Given the description of an element on the screen output the (x, y) to click on. 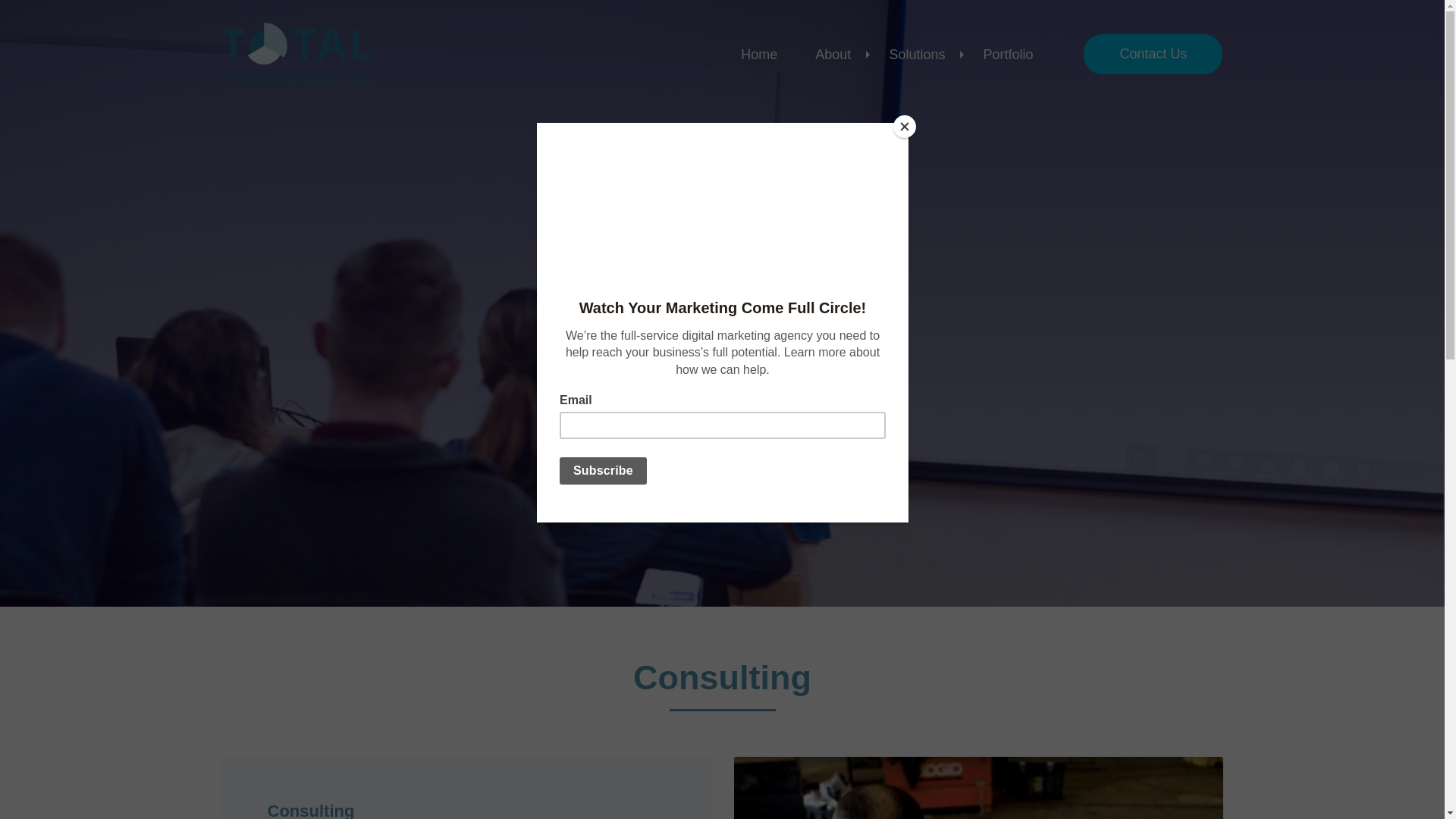
About (832, 54)
Total Marketing Solutions (296, 53)
Contact Us (1153, 54)
Solutions (916, 54)
Home (759, 54)
Portfolio (1007, 54)
